Given the description of an element on the screen output the (x, y) to click on. 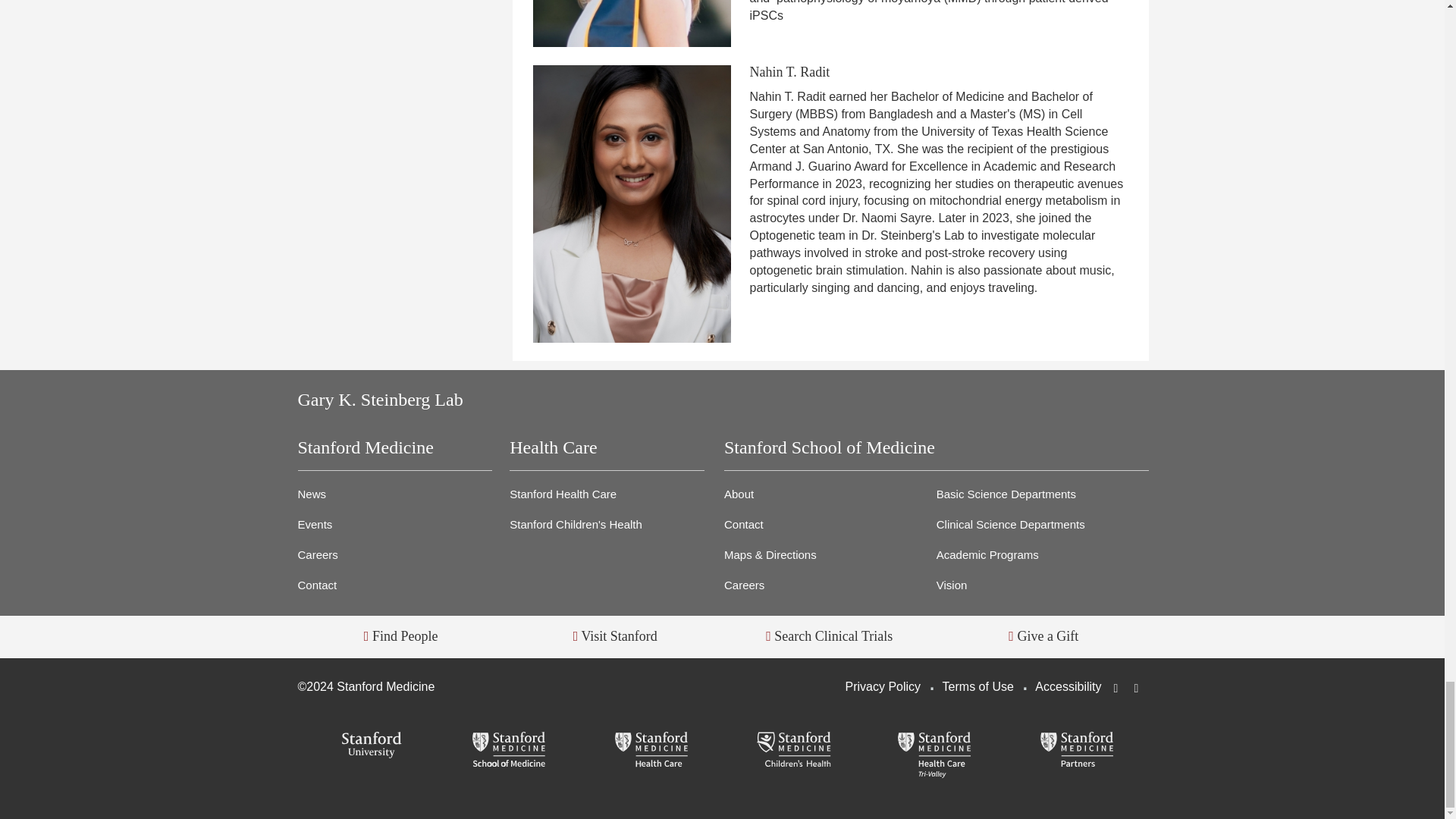
Stanford Health Care (650, 750)
Stanford Health Care Tri-Valley (934, 755)
Zeynep Demirag  (632, 22)
Stanford University (368, 746)
Stanford Children's Health (793, 750)
Stanford School of Medicine (509, 750)
